Given the description of an element on the screen output the (x, y) to click on. 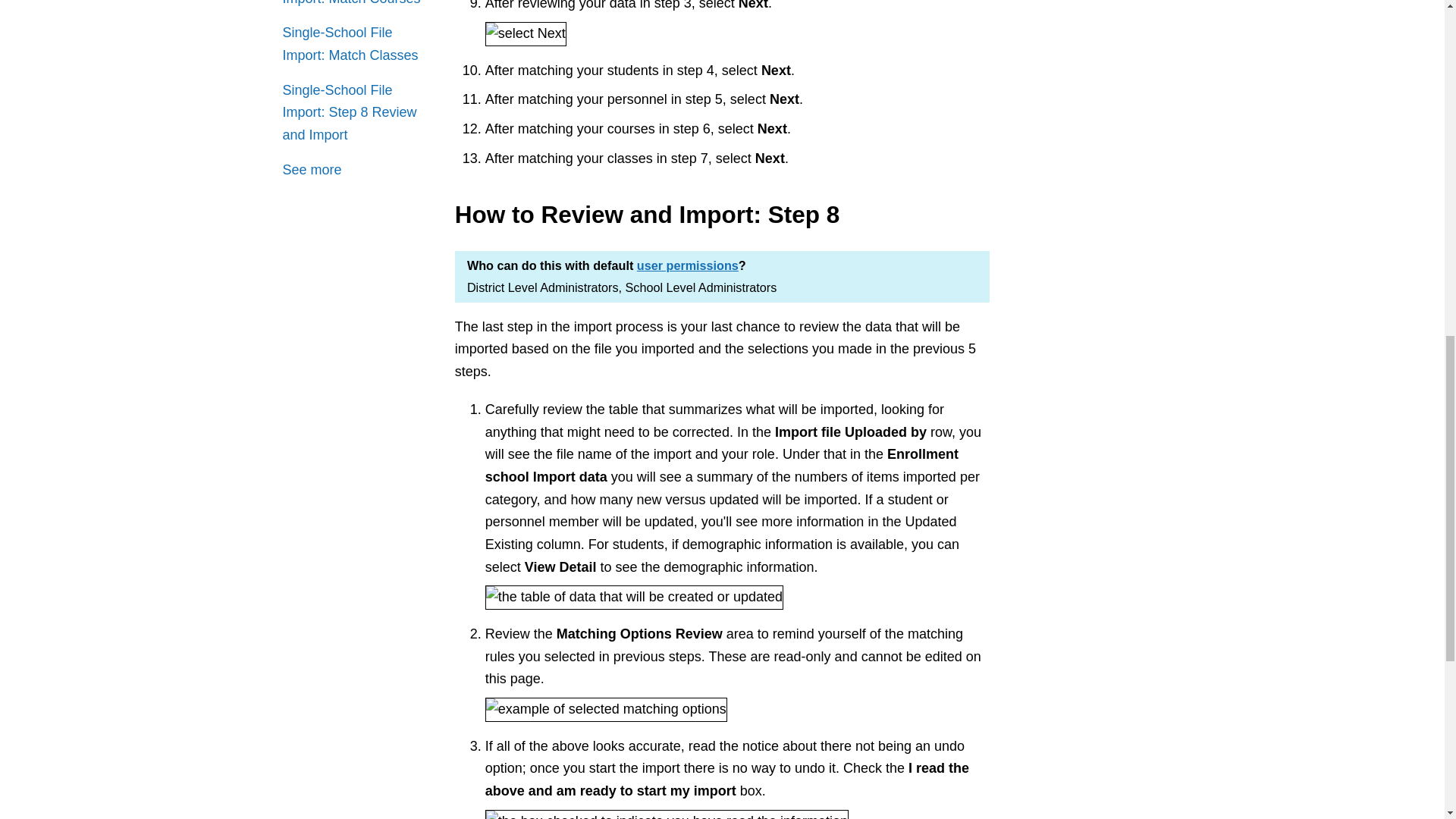
See more (311, 169)
Single-School File Import: Match Classes (356, 44)
Single-School File Import: Step 8 Review and Import (356, 113)
Single-School File Import: Match Courses (356, 4)
